Given the description of an element on the screen output the (x, y) to click on. 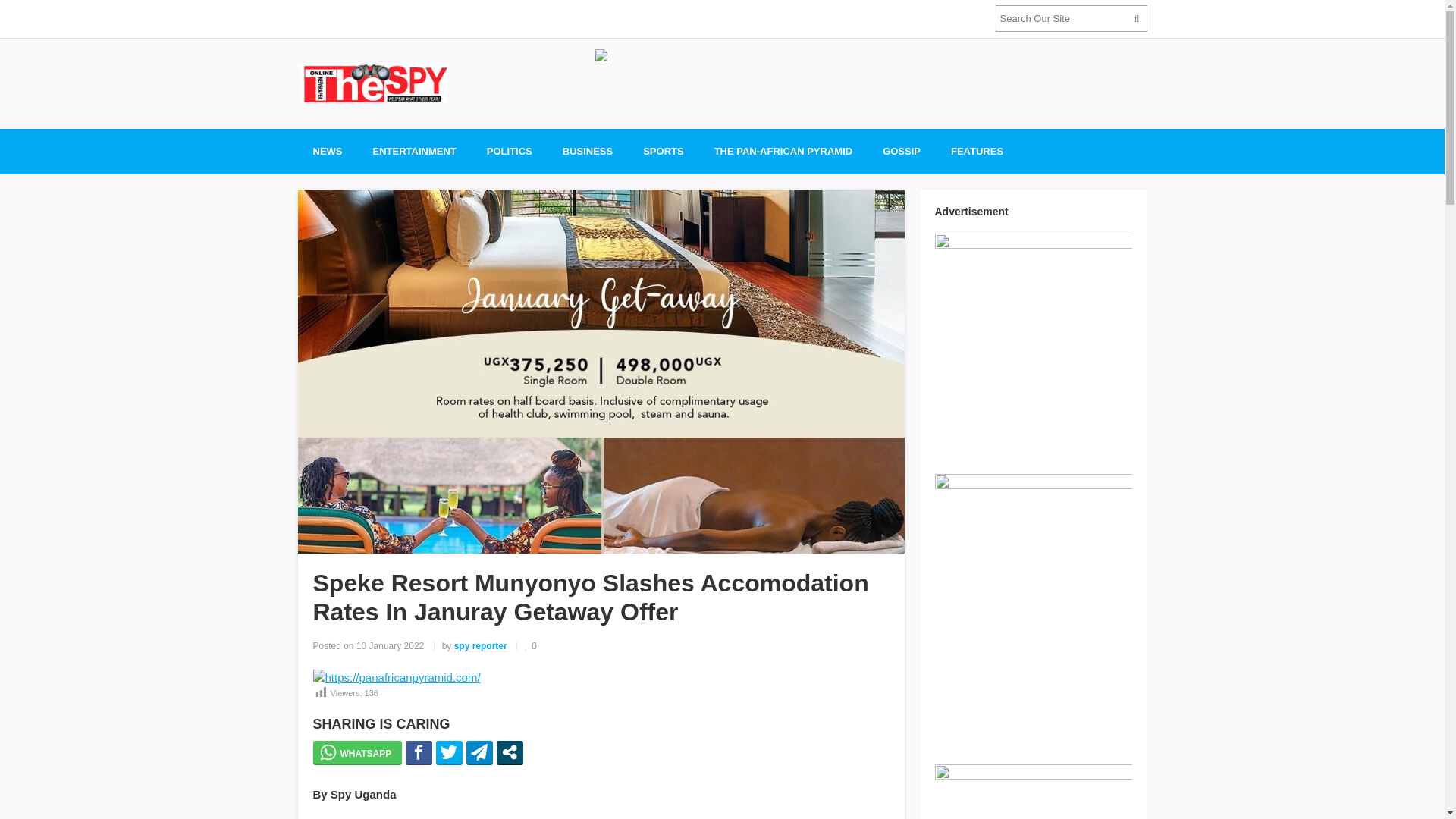
spy reporter (480, 645)
ENTERTAINMENT (414, 151)
POLITICS (509, 151)
GOSSIP (901, 151)
Share on Telegram (479, 752)
FEATURES (976, 151)
THE PAN-AFRICAN PYRAMID (782, 151)
BUSINESS (587, 151)
0 (530, 645)
Share on Facebook (419, 752)
